Given the description of an element on the screen output the (x, y) to click on. 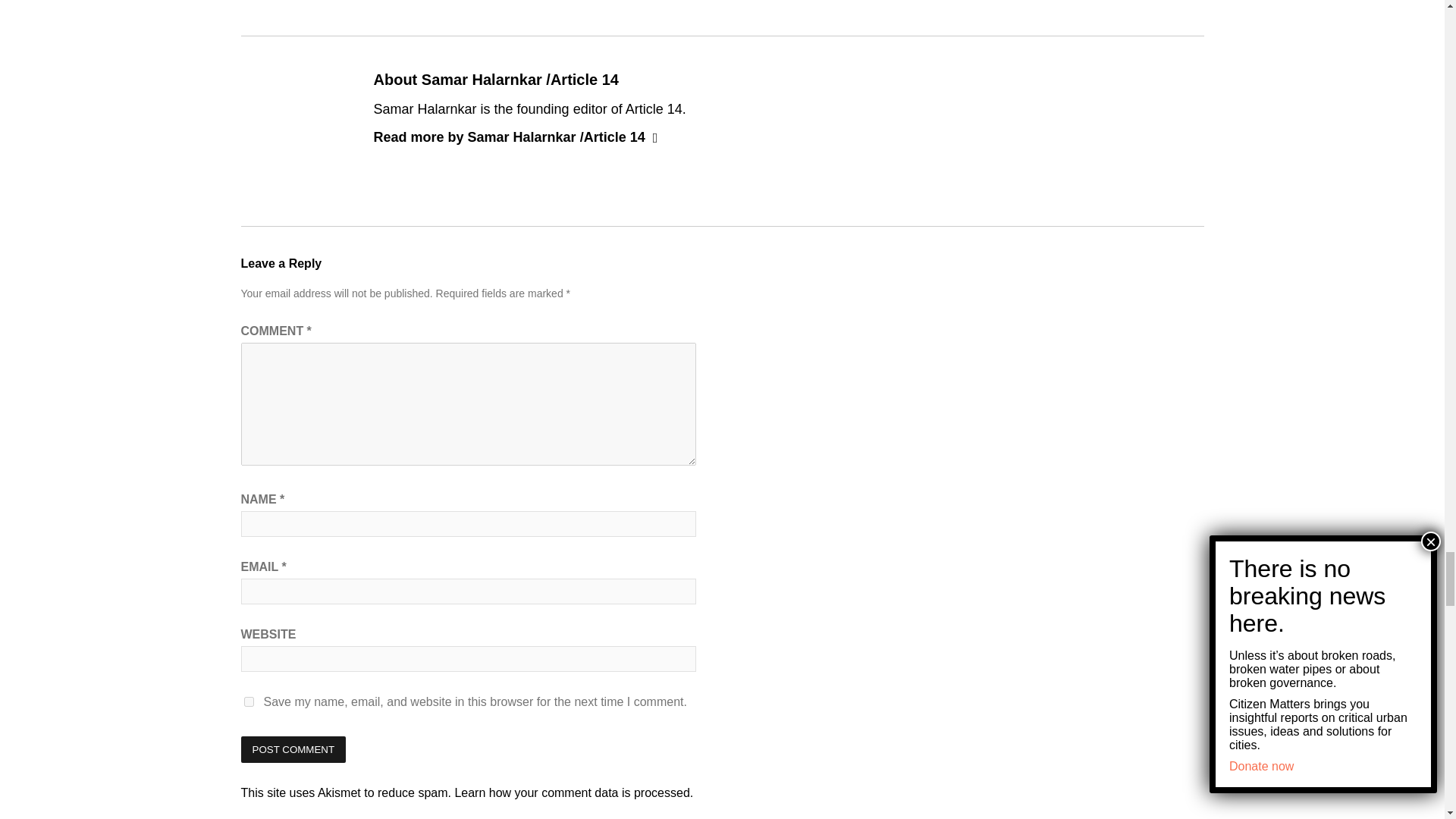
Post Comment (293, 749)
yes (248, 701)
